Given the description of an element on the screen output the (x, y) to click on. 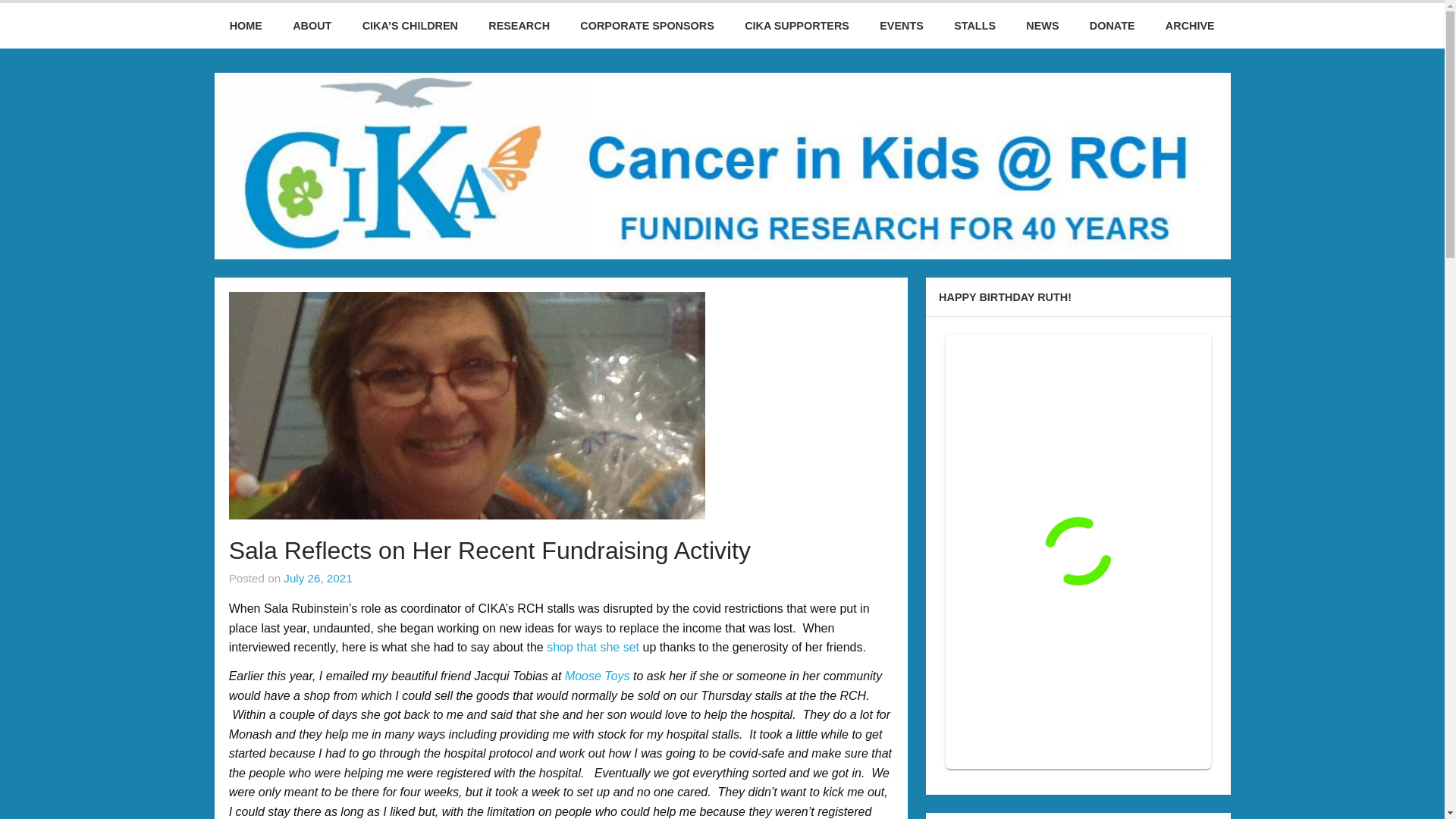
HOME (246, 25)
7:04 pm (317, 577)
CIKA (34, 15)
ABOUT (312, 25)
RESEARCH (518, 25)
